Given the description of an element on the screen output the (x, y) to click on. 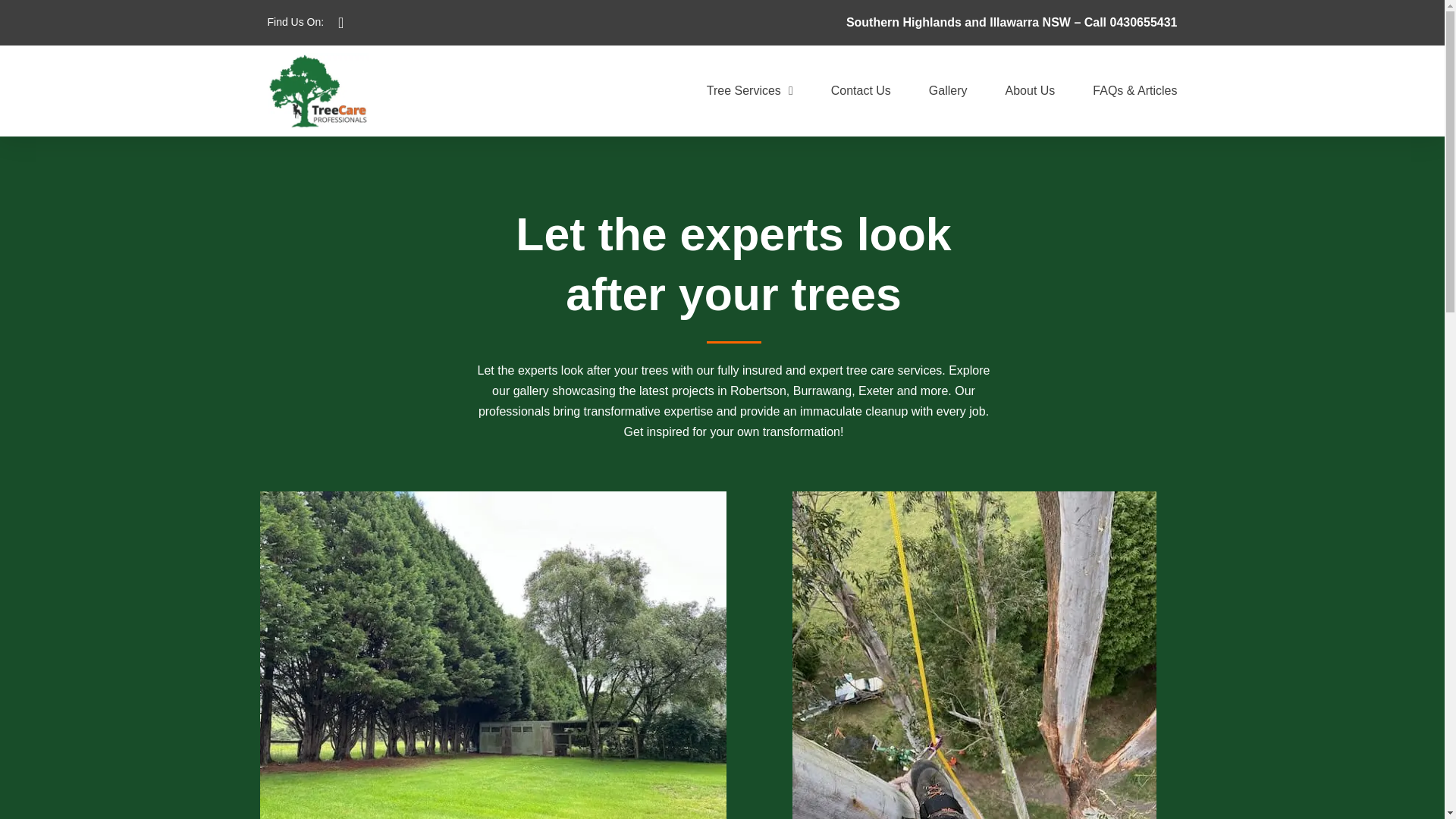
About Us (1030, 90)
0430655431 (1143, 21)
Tree Services (749, 90)
TreeCare Professionals Logo (317, 90)
Contact Us (861, 90)
Gallery (948, 90)
